Given the description of an element on the screen output the (x, y) to click on. 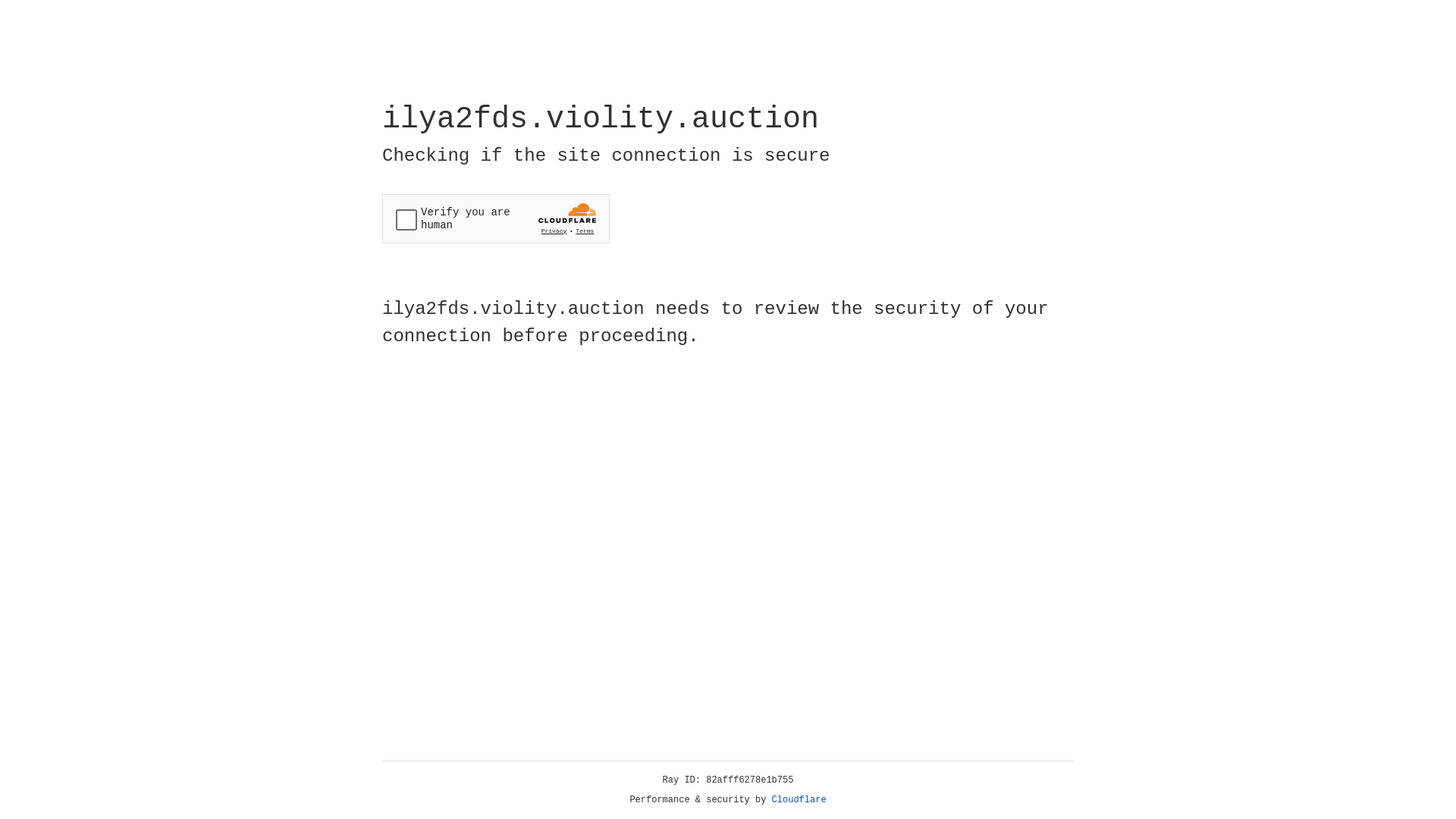
Cloudflare Element type: text (798, 799)
Widget containing a Cloudflare security challenge Element type: hover (495, 218)
